Given the description of an element on the screen output the (x, y) to click on. 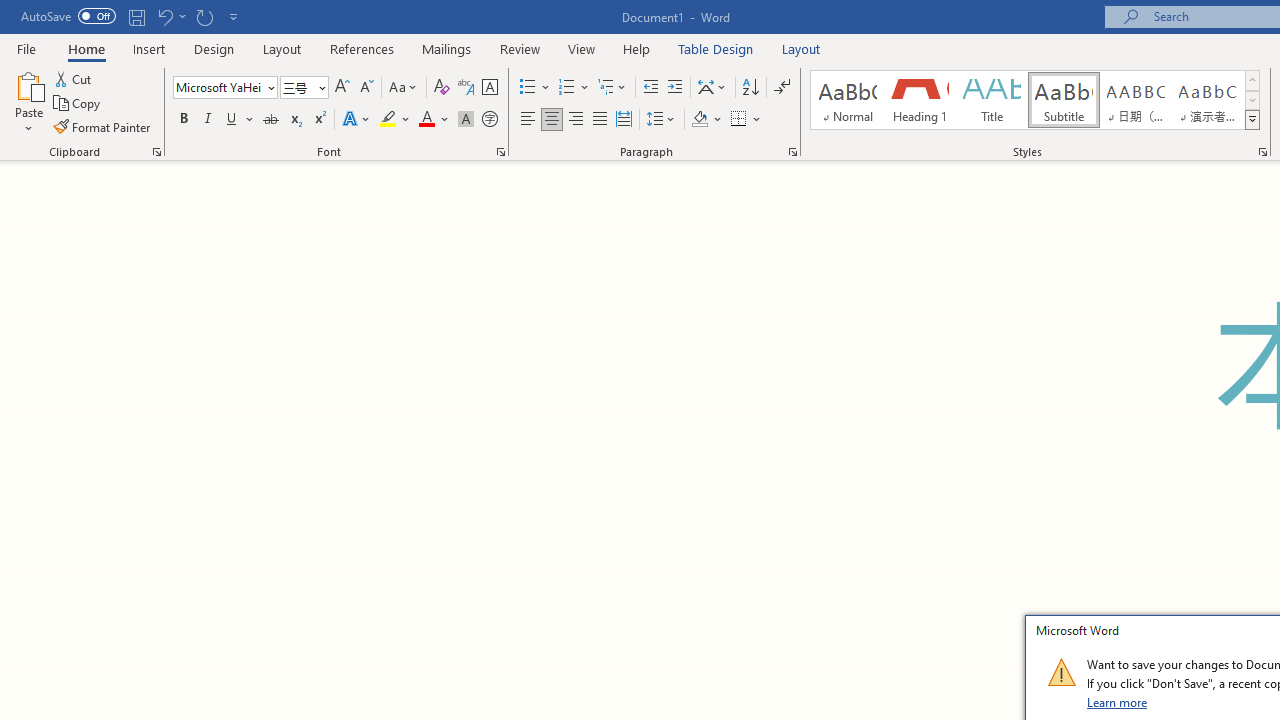
Paste (28, 84)
Align Right (575, 119)
Sort... (750, 87)
References (362, 48)
Underline (232, 119)
Shading (706, 119)
Multilevel List (613, 87)
Undo Grow Font (164, 15)
Open (320, 87)
Mailings (447, 48)
View (582, 48)
Asian Layout (712, 87)
Numbering (566, 87)
Character Shading (465, 119)
